Given the description of an element on the screen output the (x, y) to click on. 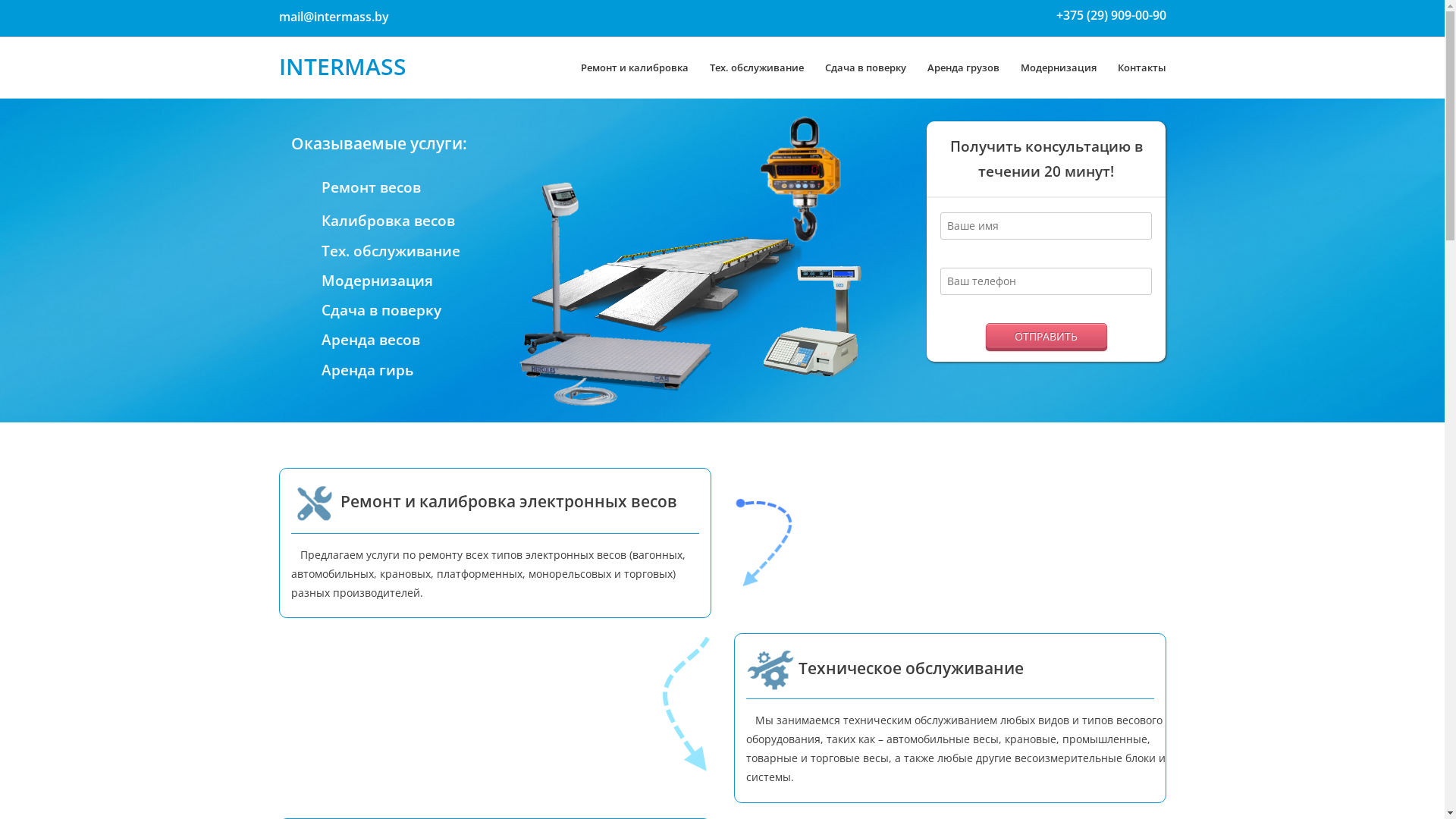
+375 (29) 909-00-90 Element type: text (1110, 14)
INTERMASS Element type: text (342, 65)
mail@intermass.by Element type: text (334, 16)
Skip to content Element type: text (37, 9)
